Given the description of an element on the screen output the (x, y) to click on. 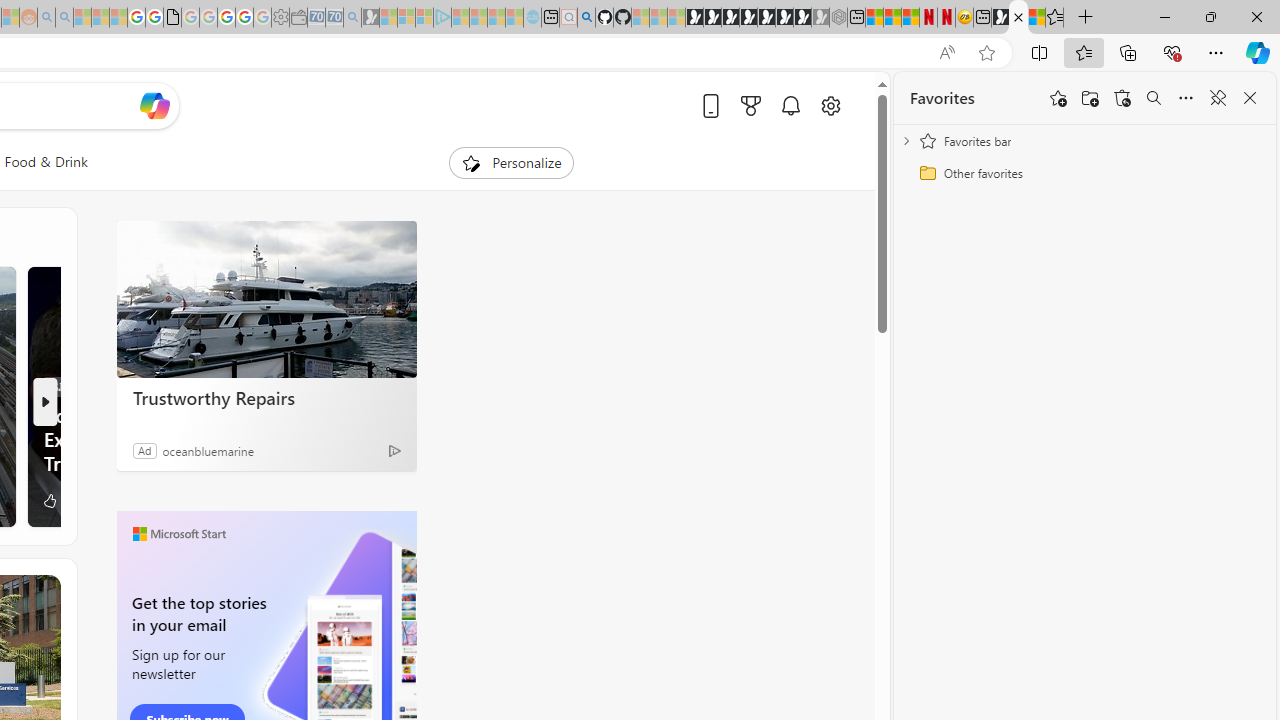
Close favorites (1250, 98)
oceanbluemarine (207, 450)
